Given the description of an element on the screen output the (x, y) to click on. 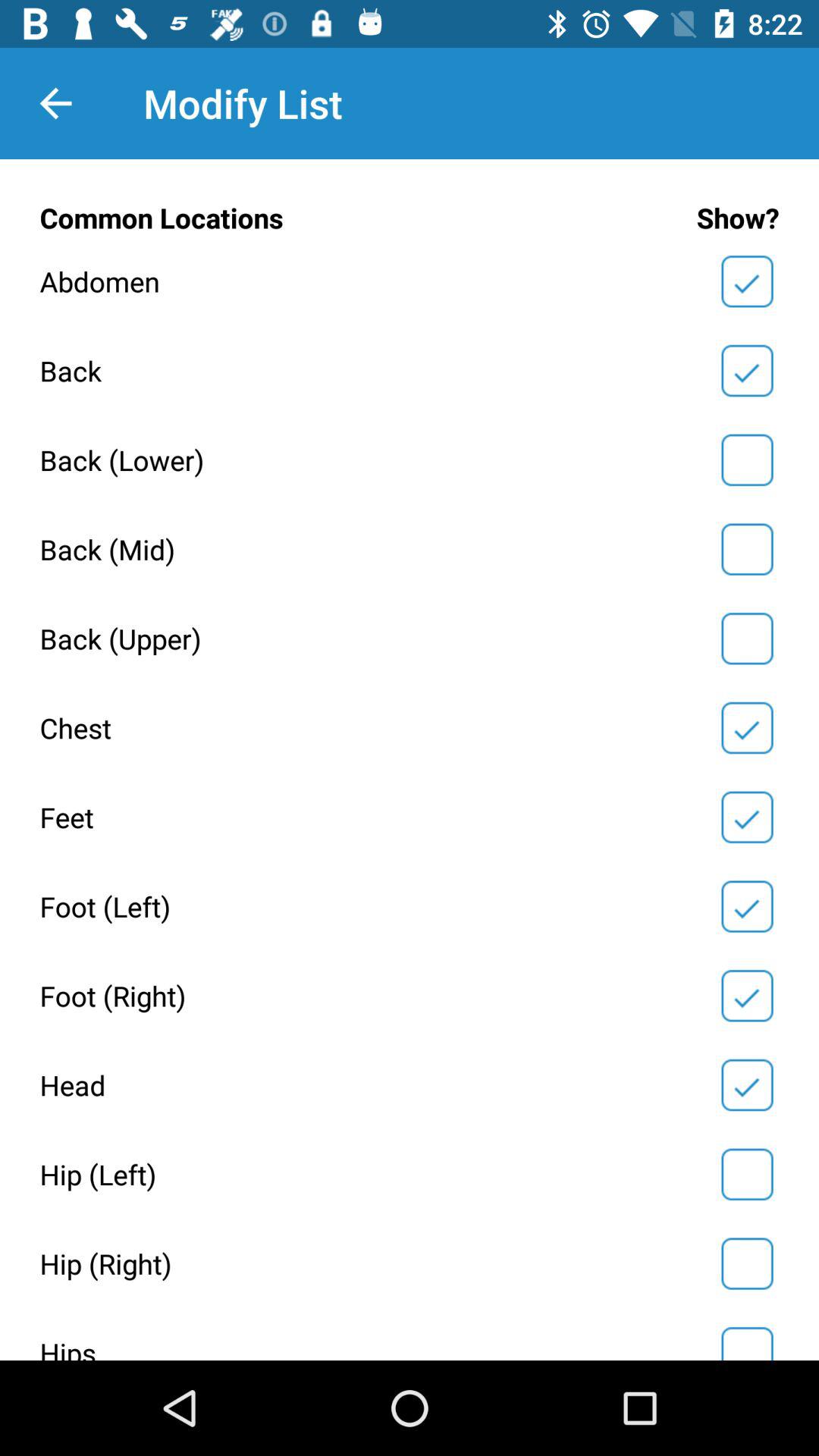
toggle head option (747, 1085)
